Given the description of an element on the screen output the (x, y) to click on. 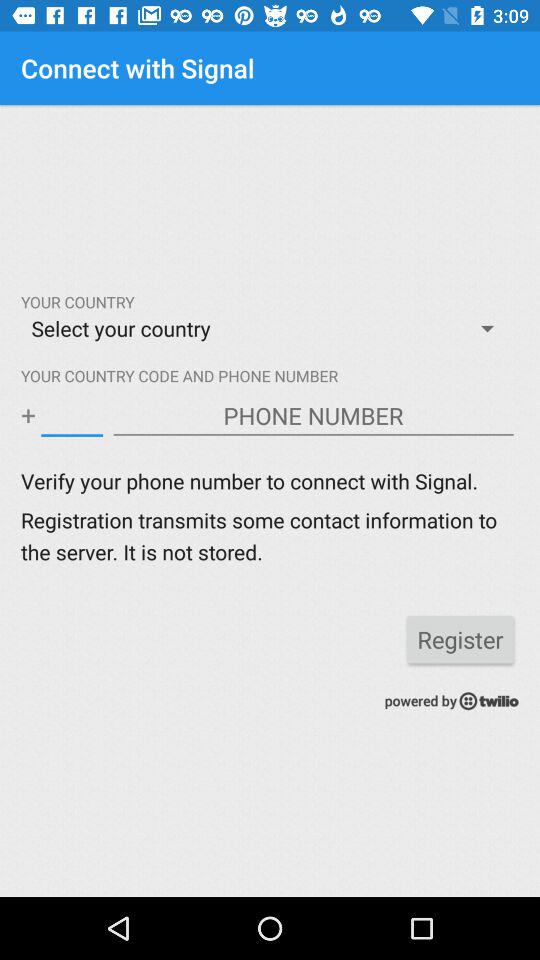
phone number (313, 415)
